Given the description of an element on the screen output the (x, y) to click on. 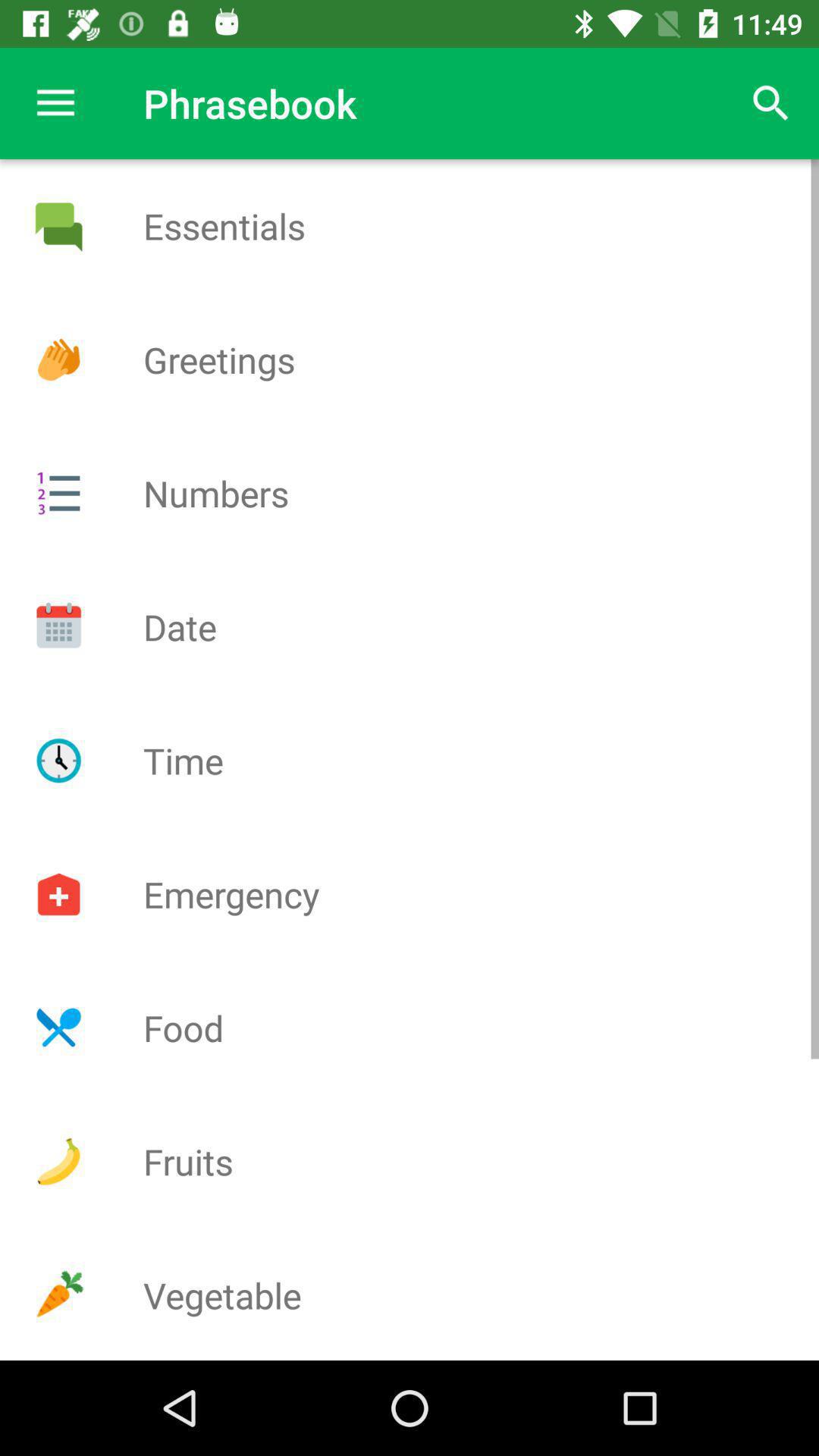
fruit phrasebook (58, 1161)
